Given the description of an element on the screen output the (x, y) to click on. 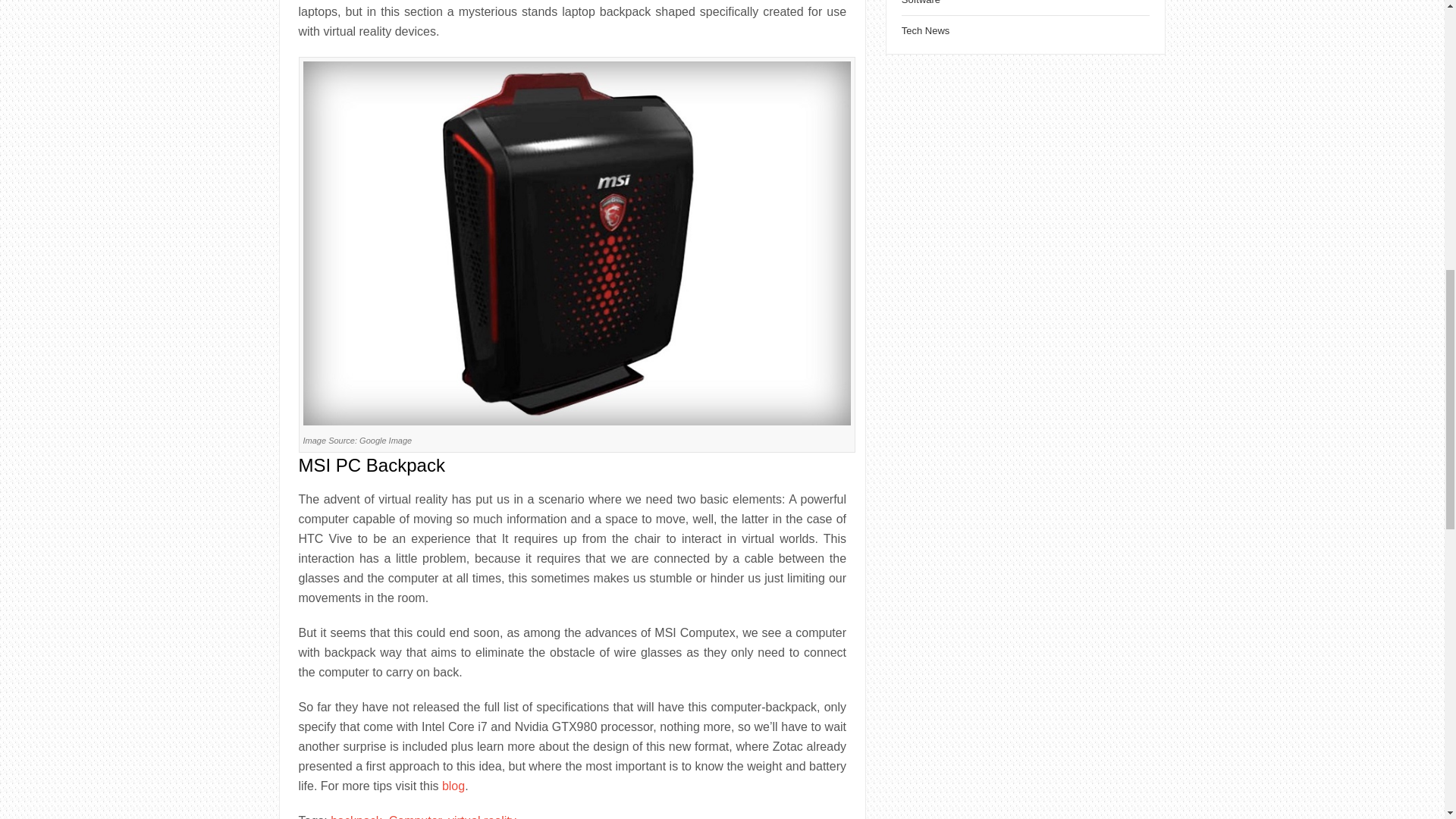
virtual reality (482, 816)
Computer (414, 816)
blog (453, 785)
backpack (355, 816)
